Given the description of an element on the screen output the (x, y) to click on. 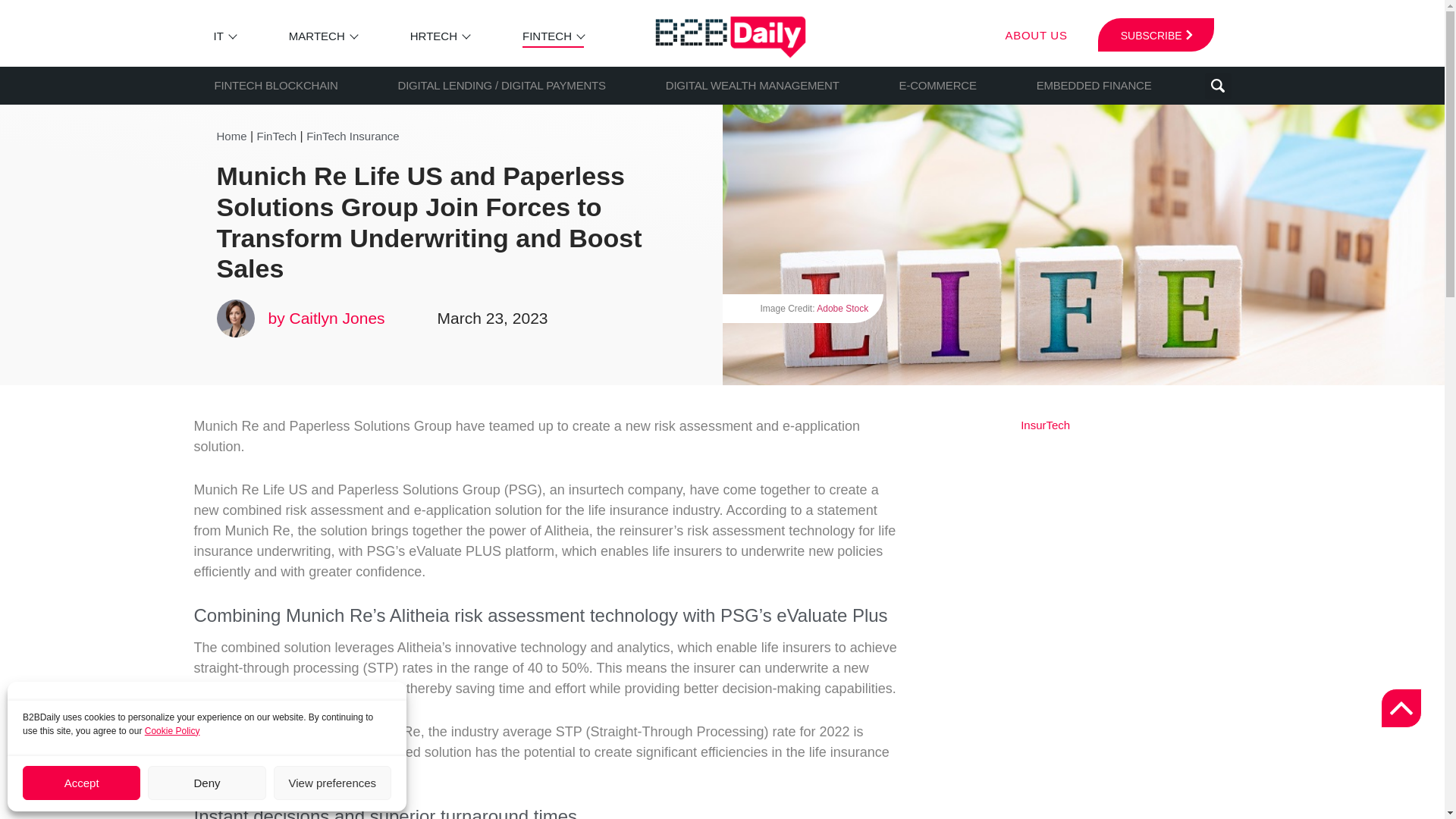
View preferences (332, 782)
Deny (206, 782)
Accept (81, 782)
Cookie Policy (172, 730)
MARTECH (316, 36)
